Given the description of an element on the screen output the (x, y) to click on. 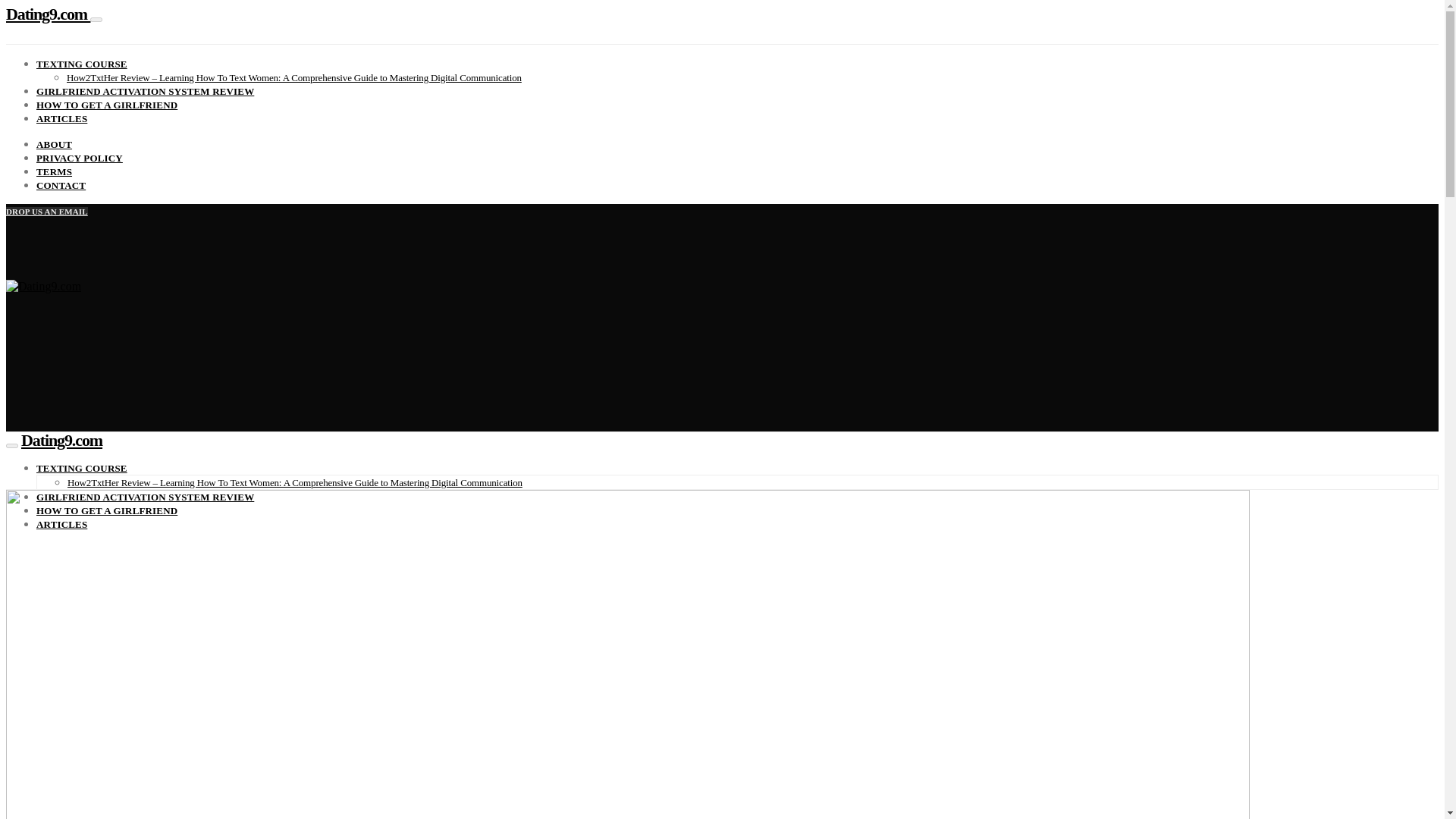
DROP US AN EMAIL (46, 211)
GIRLFRIEND ACTIVATION SYSTEM REVIEW (144, 91)
HOW TO GET A GIRLFRIEND (106, 510)
TEXTING COURSE (82, 63)
TEXTING COURSE (82, 468)
Dating9.com (61, 439)
CONTACT (60, 184)
ARTICLES (61, 118)
ARTICLES (61, 523)
HOW TO GET A GIRLFRIEND (106, 104)
